Given the description of an element on the screen output the (x, y) to click on. 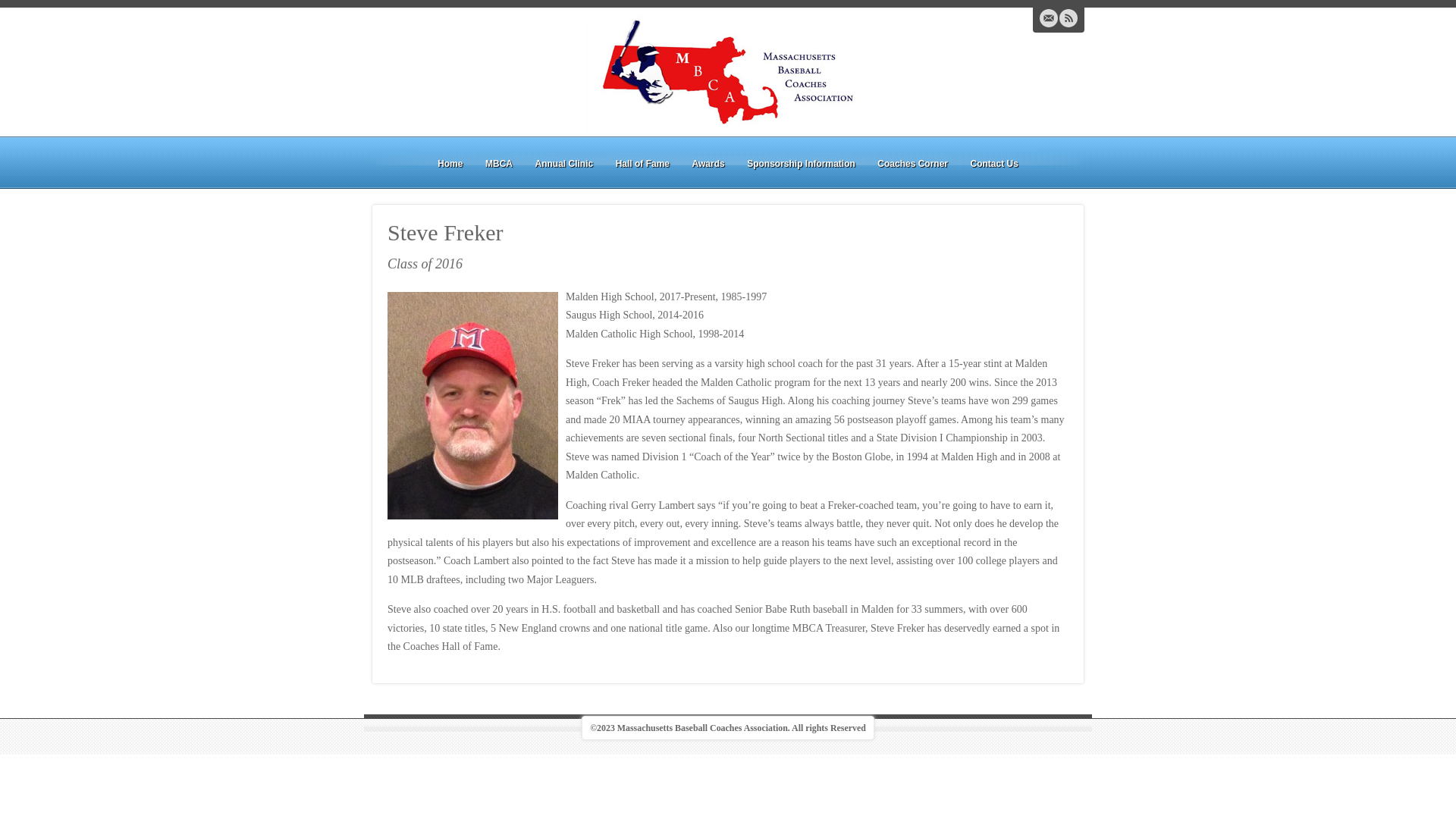
RSS (1068, 18)
Annual Clinic (563, 163)
Hall of Fame (642, 163)
Awards (708, 163)
MBCA (498, 163)
Email (1048, 18)
Email (1048, 18)
Home (449, 163)
Massachusetts Baseball Coaches Association (727, 74)
Sponsorship Information (801, 163)
RSS (1068, 18)
